Given the description of an element on the screen output the (x, y) to click on. 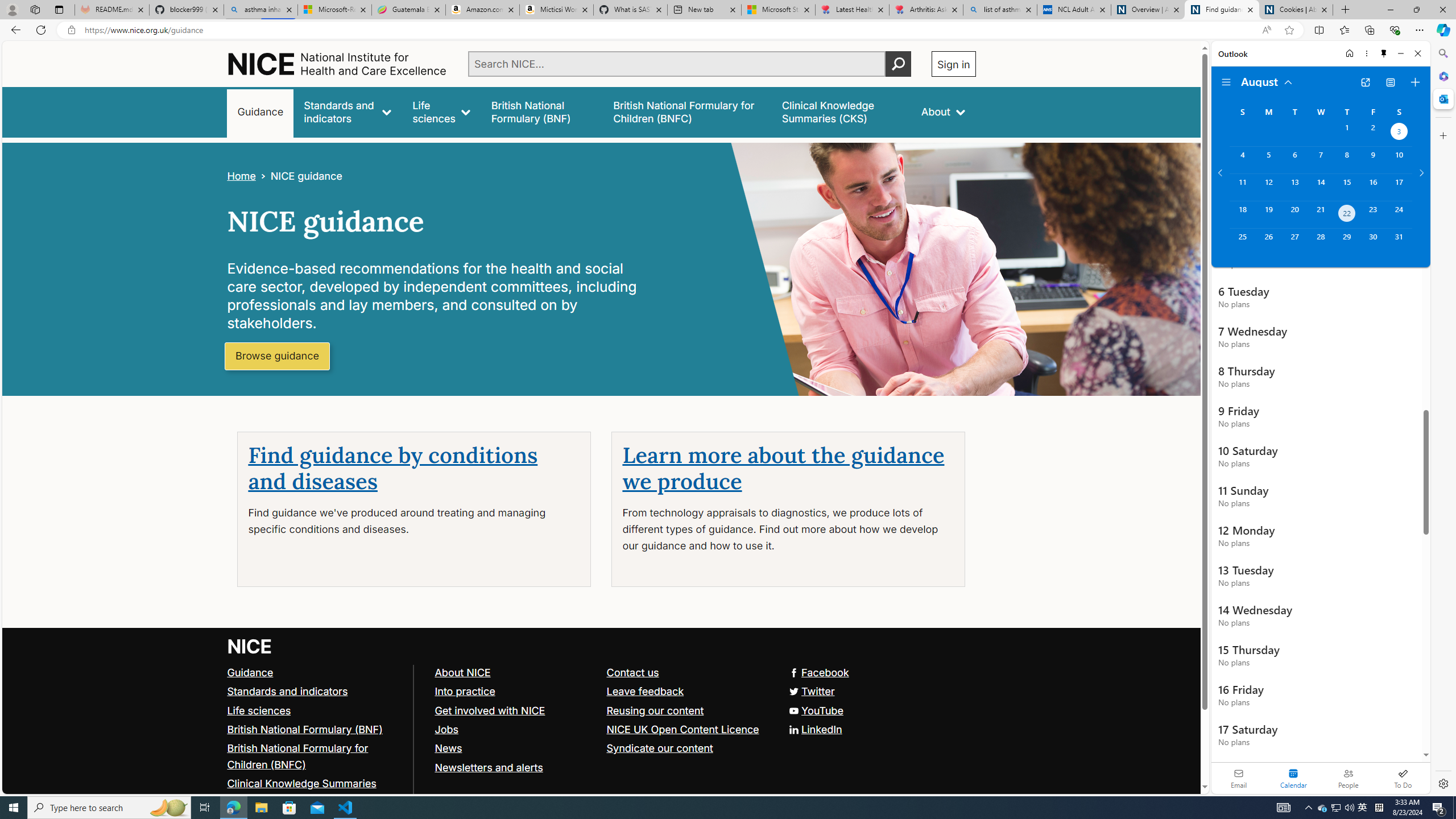
>NICE guidance (298, 176)
Friday, August 30, 2024.  (1372, 241)
Friday, August 2, 2024.  (1372, 132)
Cookies | About | NICE (1295, 9)
People (1347, 777)
Facebook (601, 672)
